Given the description of an element on the screen output the (x, y) to click on. 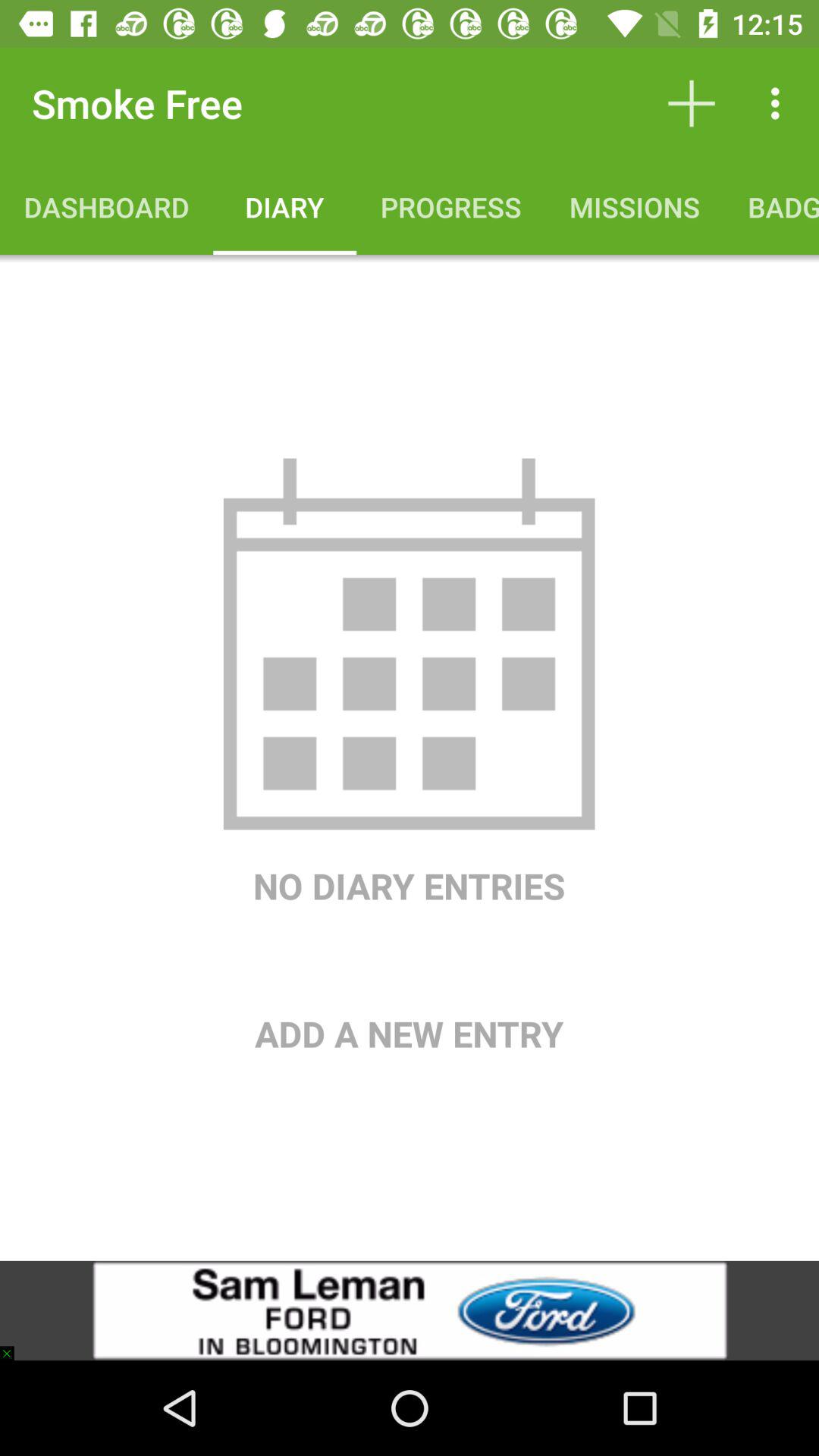
choose icon below no diary entries icon (408, 983)
